Given the description of an element on the screen output the (x, y) to click on. 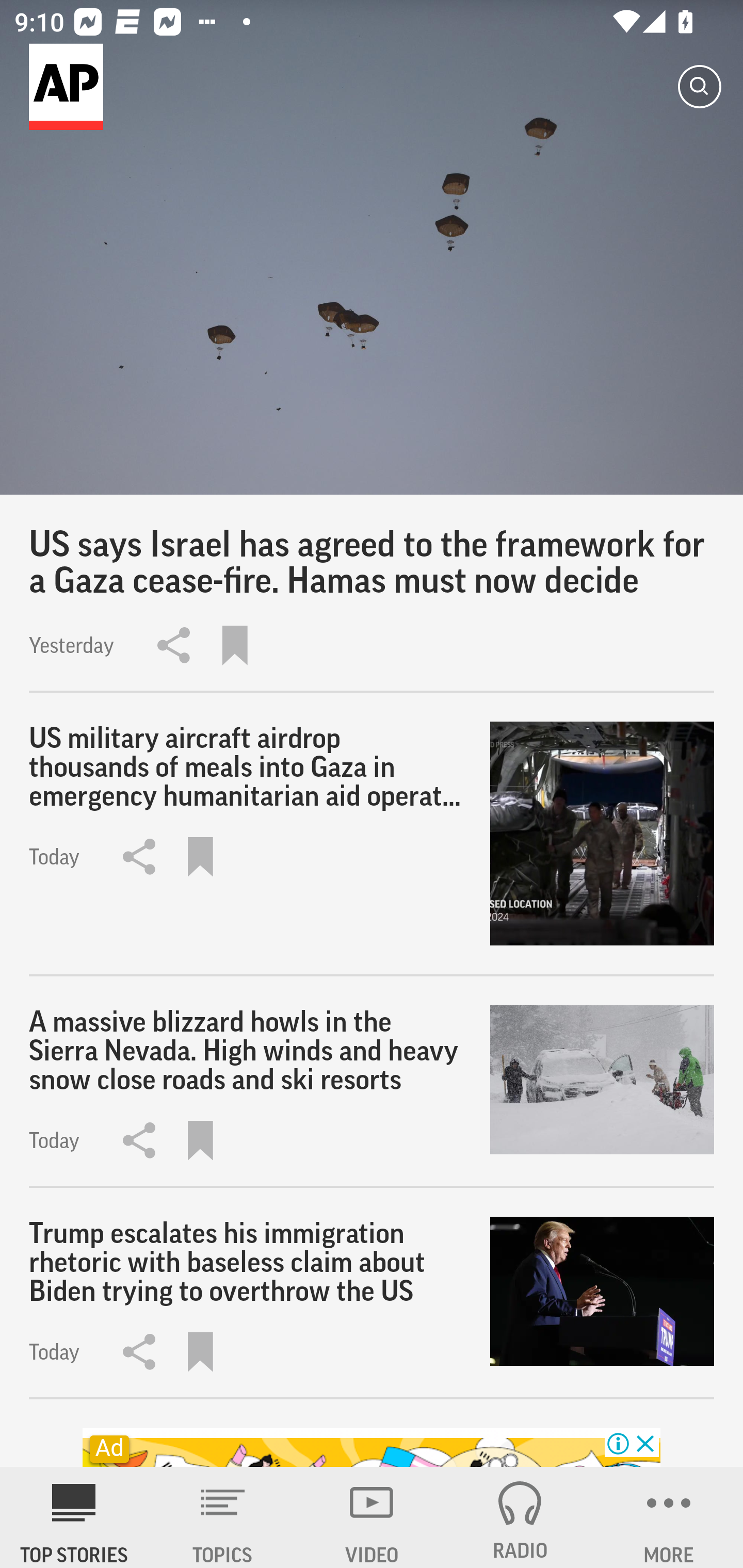
AP News TOP STORIES (74, 1517)
TOPICS (222, 1517)
VIDEO (371, 1517)
RADIO (519, 1517)
MORE (668, 1517)
